Given the description of an element on the screen output the (x, y) to click on. 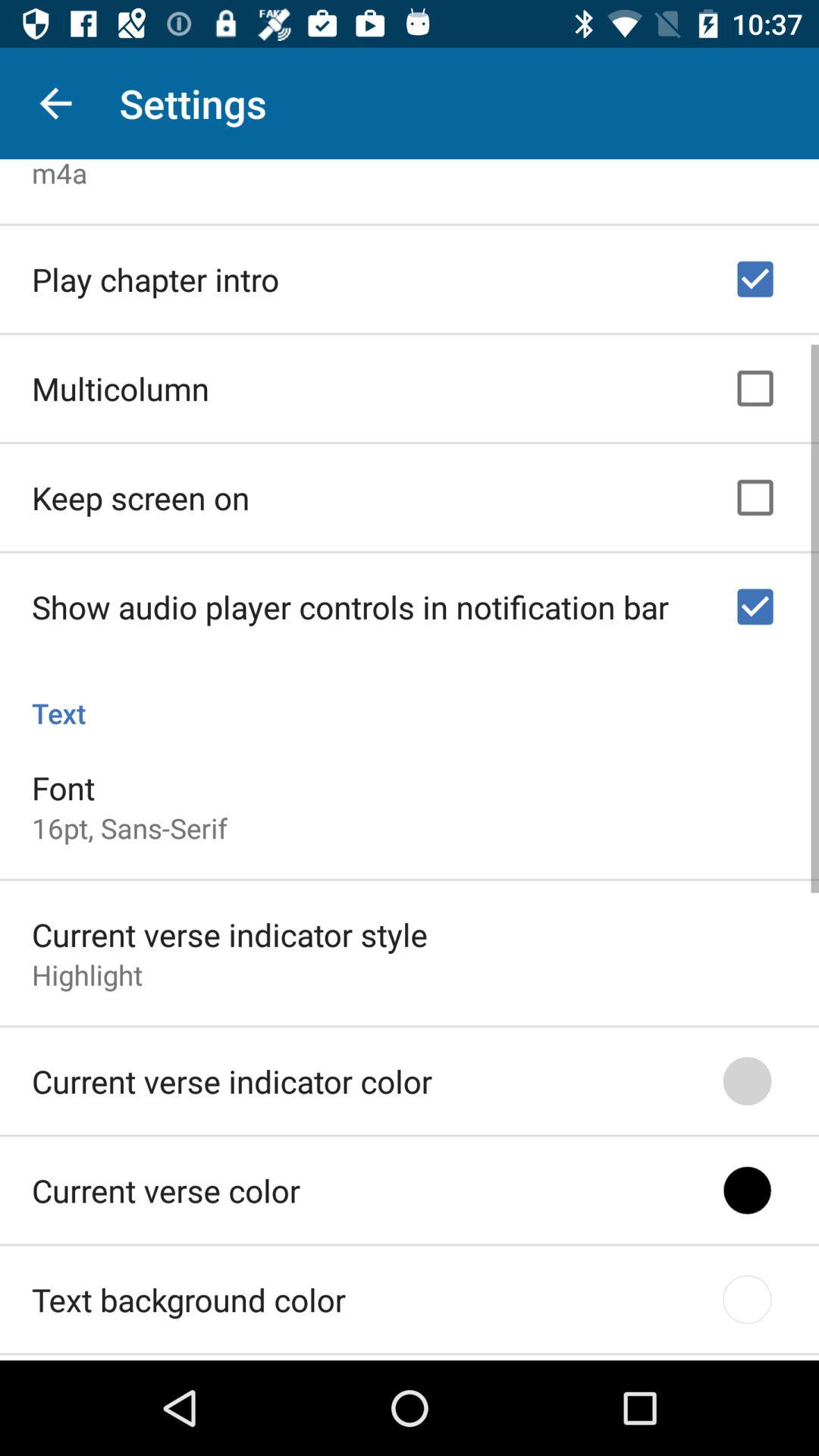
choose the highlight icon (86, 970)
